Given the description of an element on the screen output the (x, y) to click on. 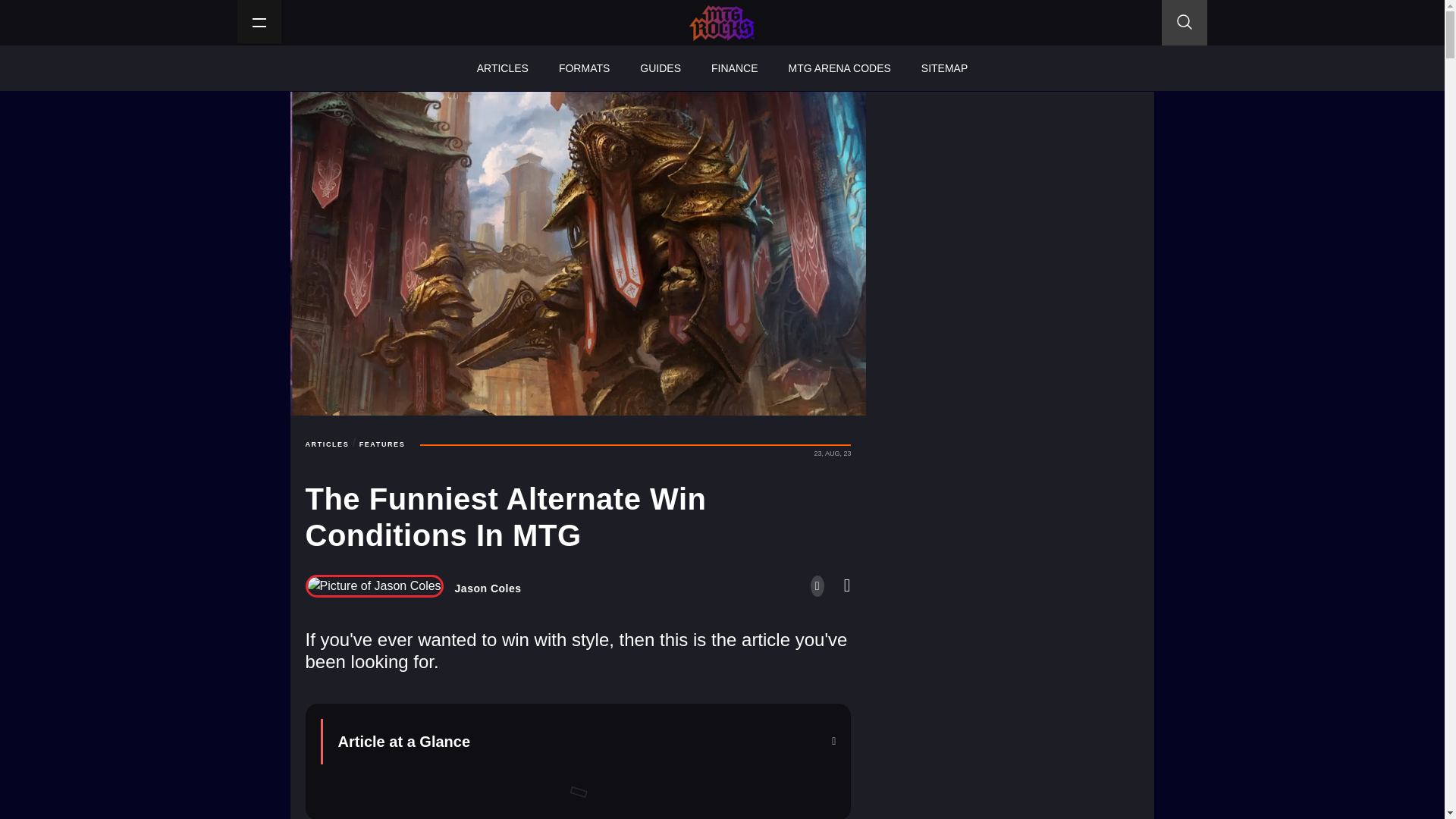
FORMATS (583, 68)
GUIDES (659, 68)
ARTICLES (502, 68)
FEATURES (382, 444)
FINANCE (734, 68)
ARTICLES (326, 444)
MTG ARENA CODES (839, 68)
SITEMAP (943, 68)
